Given the description of an element on the screen output the (x, y) to click on. 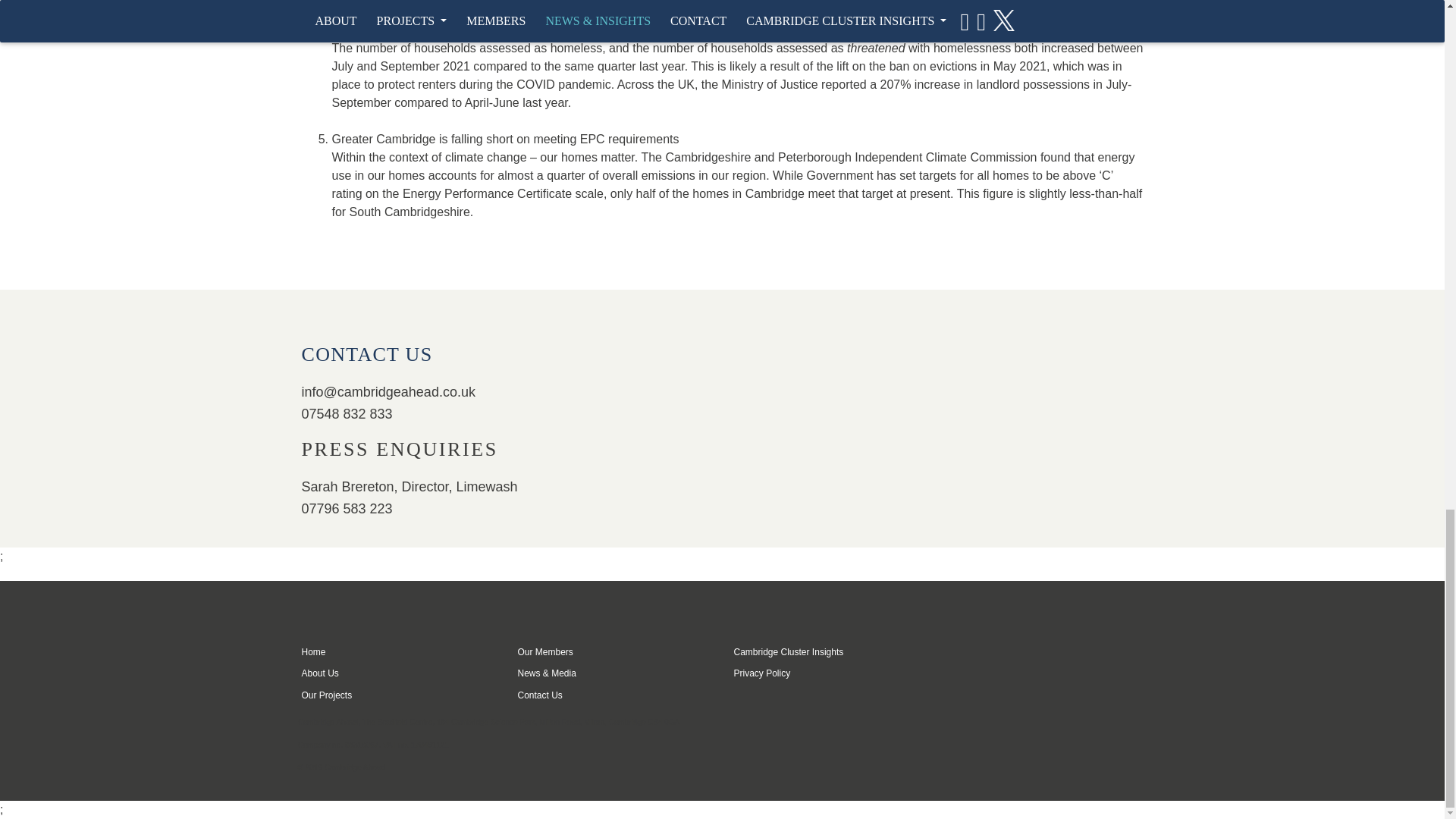
Our Members (544, 652)
Home (313, 652)
Contact Us (539, 695)
About Us (320, 673)
Privacy Policy (761, 673)
Cambridge Cluster Insights (788, 652)
Our Projects (326, 695)
